Given the description of an element on the screen output the (x, y) to click on. 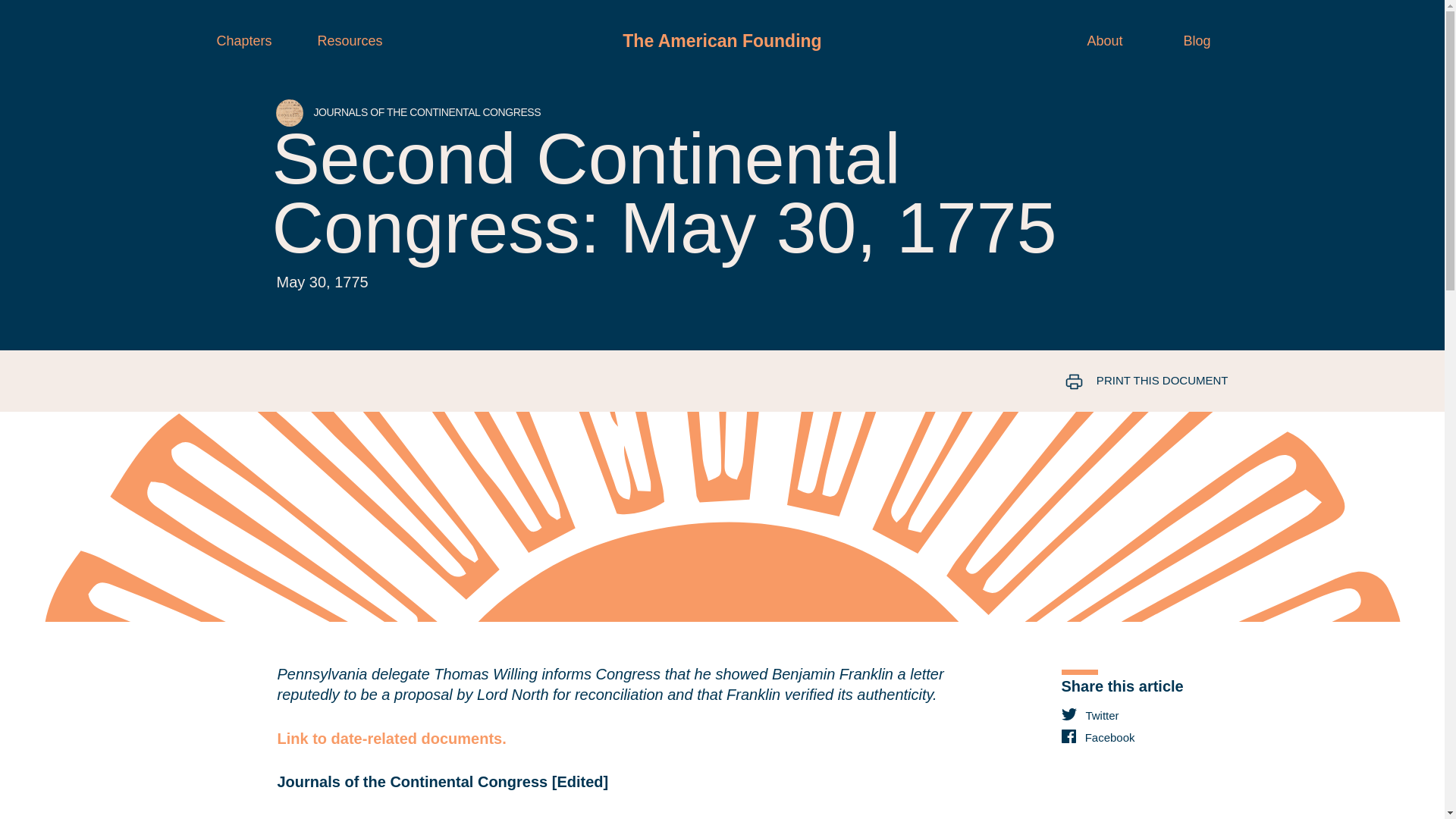
Facebook (1159, 737)
The American Founding (722, 40)
About (1104, 40)
Share a link to Facebook (1159, 737)
Link to date-related documents. (392, 738)
PRINT THIS DOCUMENT (1122, 380)
Share a link to Twitter (1159, 715)
Chapters (244, 40)
Resources (349, 40)
Blog (1195, 40)
